Given the description of an element on the screen output the (x, y) to click on. 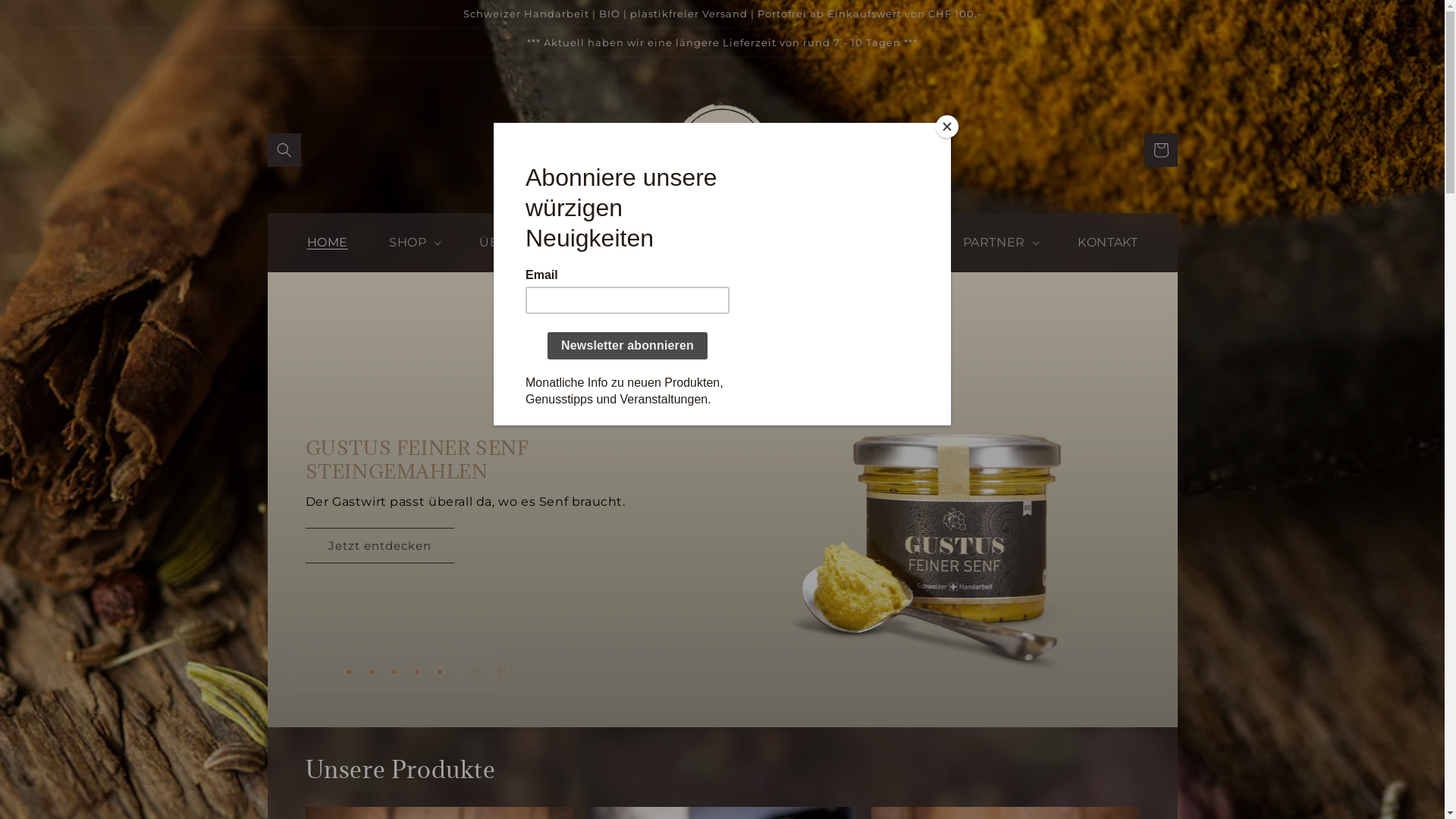
Jetzt entdecken Element type: text (378, 545)
Warenkorb Element type: text (1159, 149)
NEUIGKEITEN Element type: text (647, 242)
KURSE Element type: text (898, 242)
Jetzt entdecken Element type: text (1288, 544)
HOME Element type: text (326, 242)
KONTAKT Element type: text (1107, 242)
